Given the description of an element on the screen output the (x, y) to click on. 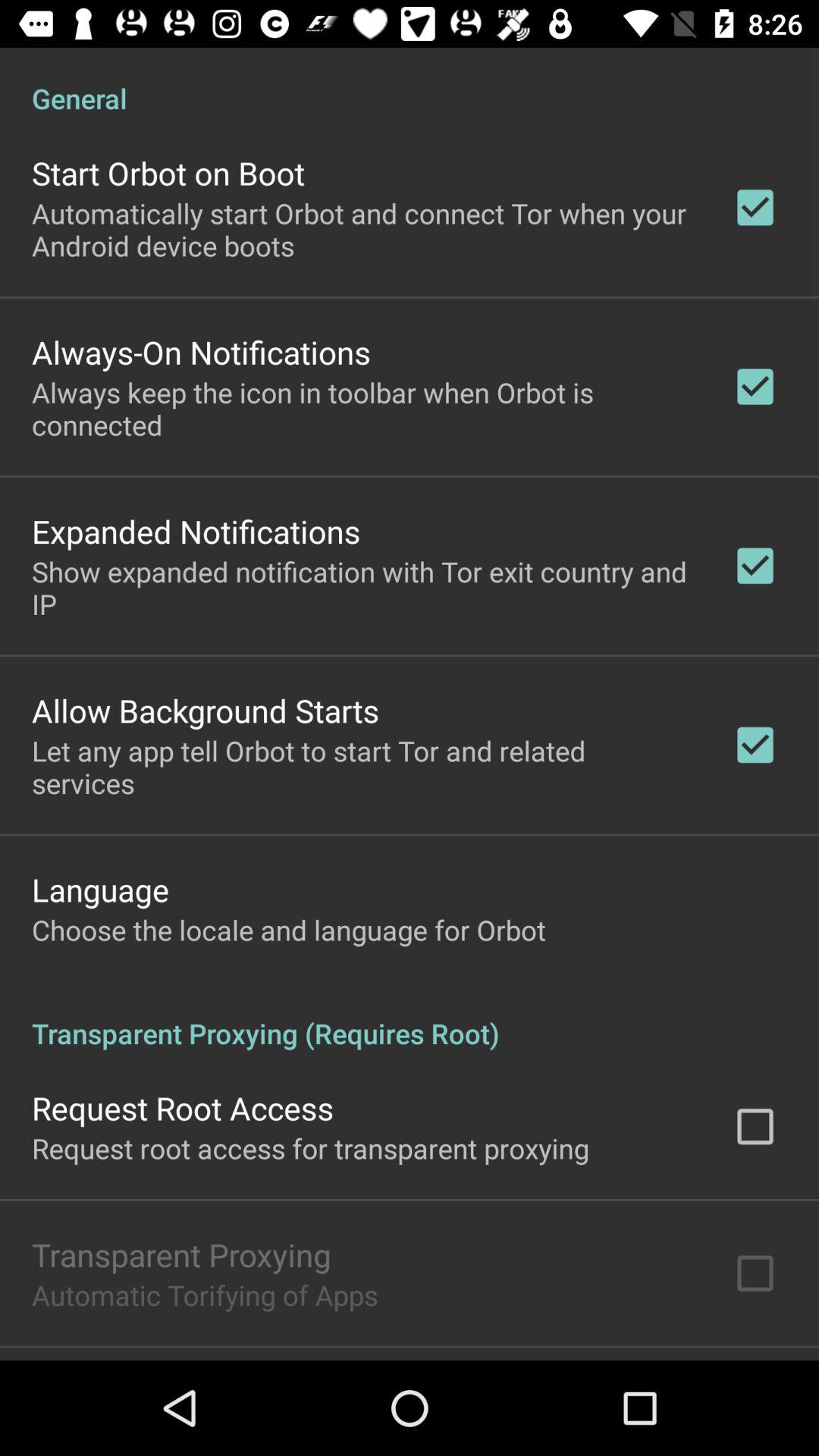
open the always keep the (361, 408)
